Given the description of an element on the screen output the (x, y) to click on. 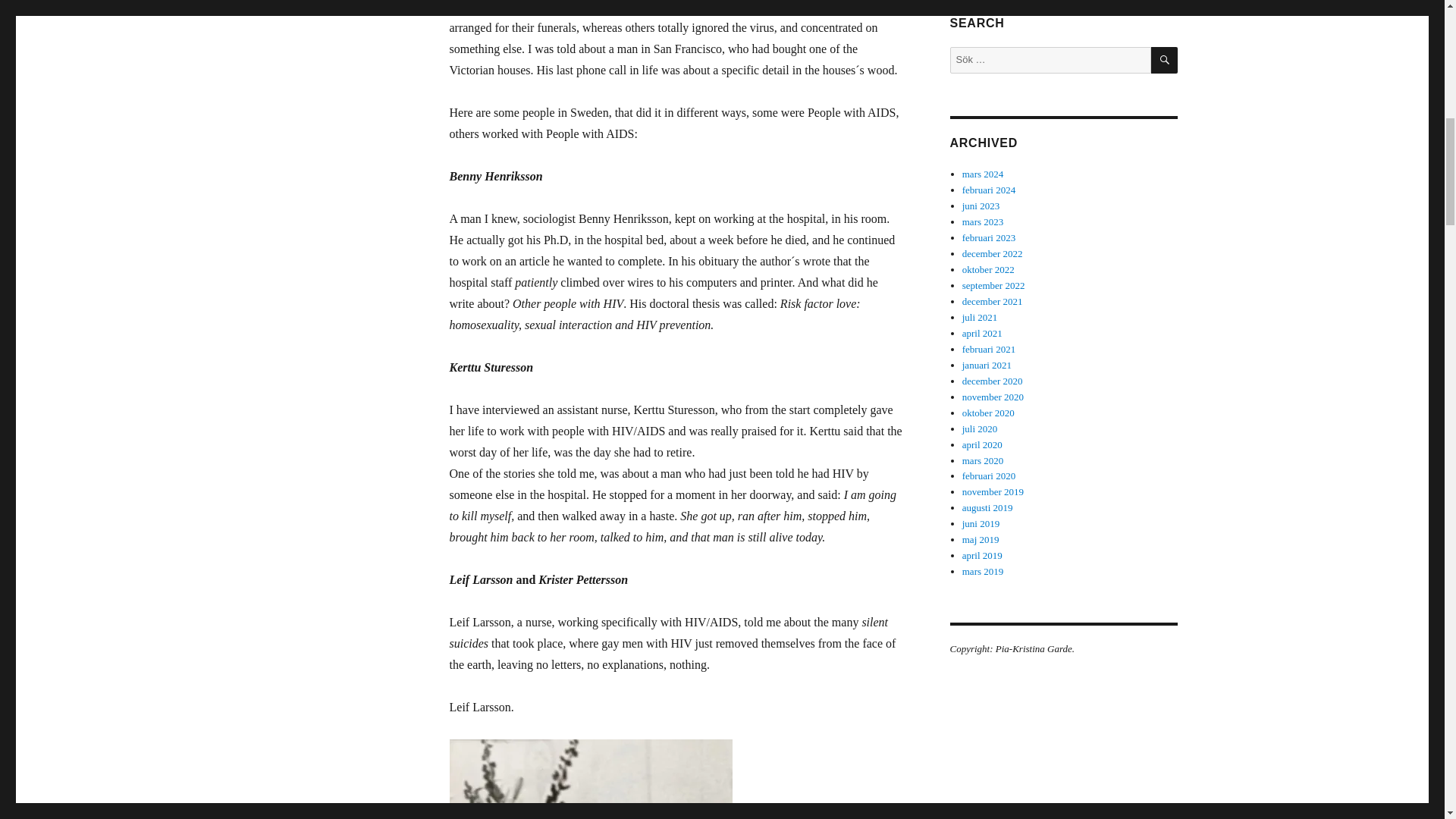
juli 2020 (979, 428)
november 2020 (992, 396)
januari 2021 (986, 365)
juli 2021 (979, 317)
oktober 2022 (988, 269)
mars 2024 (983, 173)
december 2022 (992, 253)
februari 2024 (988, 189)
december 2021 (992, 301)
oktober 2020 (988, 412)
april 2021 (982, 333)
mars 2023 (983, 221)
februari 2021 (988, 348)
juni 2023 (980, 205)
december 2020 (992, 380)
